Given the description of an element on the screen output the (x, y) to click on. 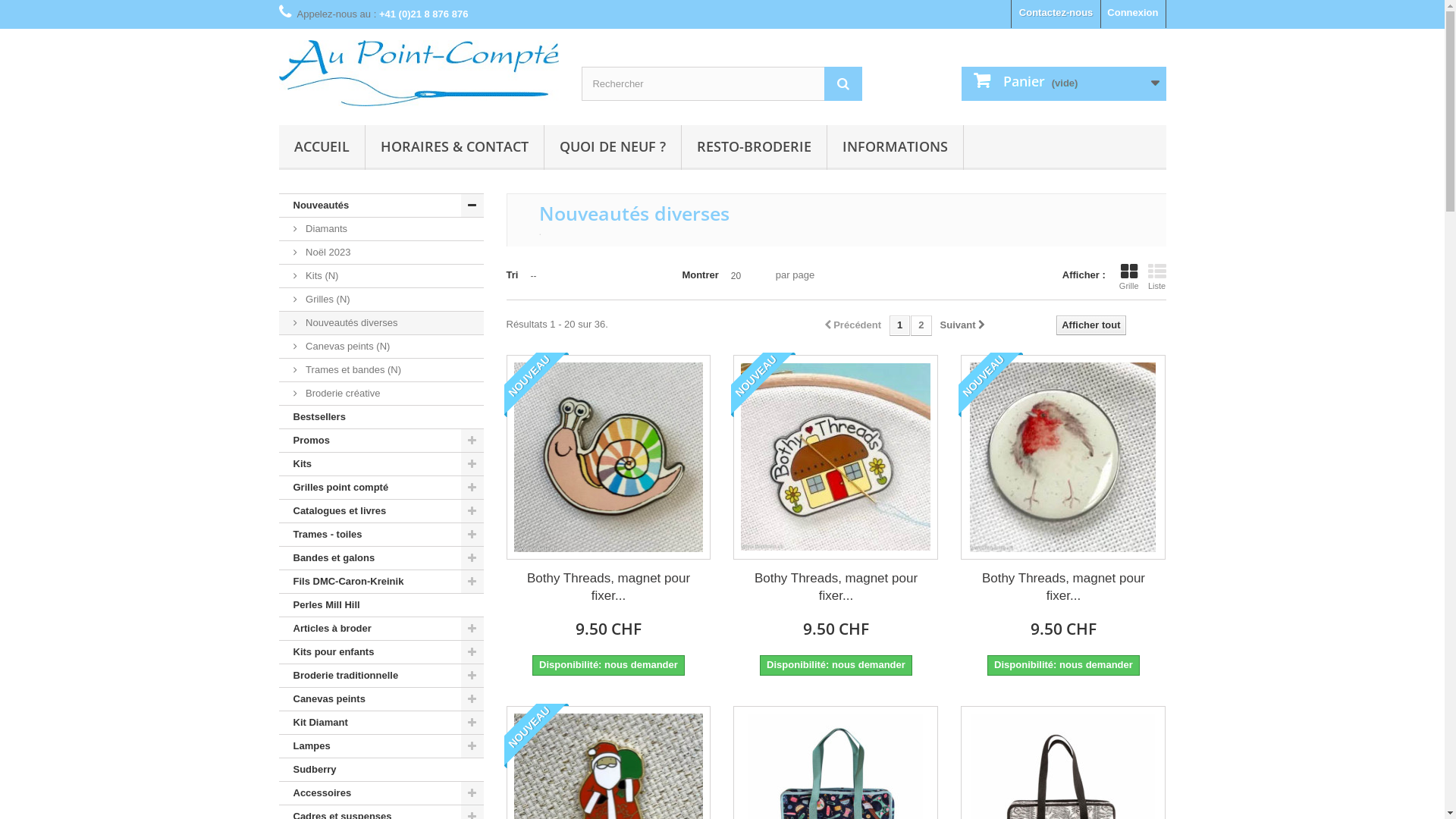
Bothy Threads, magnet pour fixer... Element type: text (835, 586)
NOUVEAU Element type: text (763, 384)
Perles Mill Hill Element type: text (381, 605)
INFORMATIONS Element type: text (894, 147)
Canevas peints (N) Element type: text (381, 346)
Trames et bandes (N) Element type: text (381, 370)
Catalogues et livres Element type: text (381, 511)
NOUVEAU Element type: text (990, 384)
Bothy Threads, magnet pour fixer... Element type: text (1063, 586)
Kits (N) Element type: text (381, 276)
Connexion Element type: text (1132, 14)
HORAIRES & CONTACT Element type: text (454, 147)
NOUVEAU Element type: text (535, 384)
Lampes Element type: text (381, 746)
NOUVEAU Element type: text (535, 735)
Contactez-nous Element type: text (1056, 14)
Kits Element type: text (381, 464)
RESTO-BRODERIE Element type: text (752, 147)
Accessoires Element type: text (381, 793)
Grille Element type: text (1129, 276)
Liste Element type: text (1157, 276)
Kits pour enfants Element type: text (381, 652)
Sudberry Element type: text (381, 769)
QUOI DE NEUF ? Element type: text (612, 147)
Bandes et galons Element type: text (381, 558)
Broderie traditionnelle Element type: text (381, 675)
Bestsellers Element type: text (381, 417)
Trames - toiles Element type: text (381, 534)
2 Element type: text (920, 325)
Canevas peints Element type: text (381, 699)
Suivant Element type: text (962, 325)
Panier (vide) Element type: text (1063, 83)
Afficher tout Element type: text (1090, 325)
Fils DMC-Caron-Kreinik Element type: text (381, 581)
ACCUEIL Element type: text (321, 147)
Bothy Threads, magnet pour fixer... Element type: text (608, 586)
Promos Element type: text (381, 440)
Grilles (N) Element type: text (381, 299)
Diamants Element type: text (381, 229)
Kit Diamant Element type: text (381, 722)
